Given the description of an element on the screen output the (x, y) to click on. 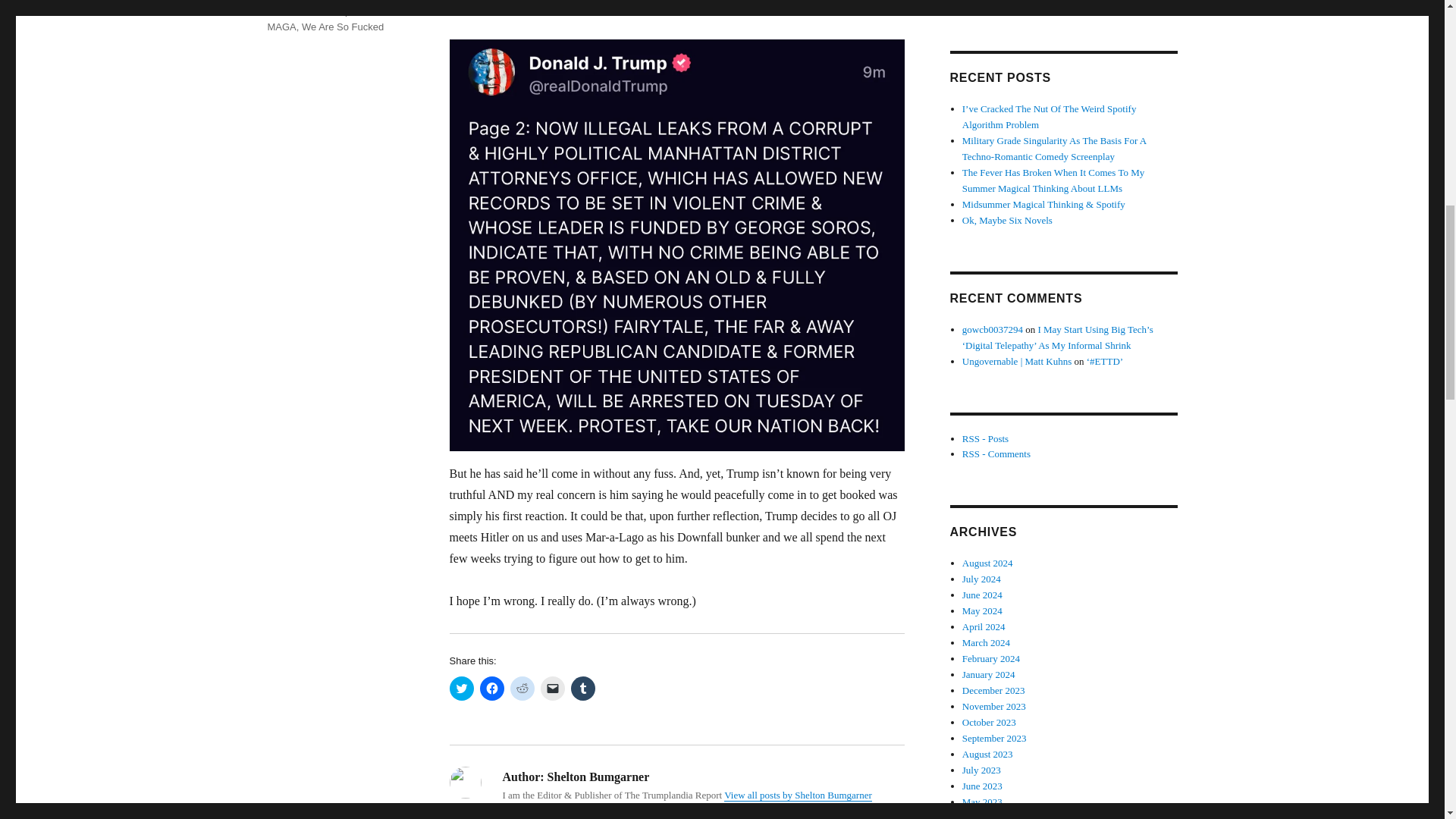
Subscribe to comments (996, 453)
Click to email a link to a friend (552, 688)
View all posts by Shelton Bumgarner (797, 794)
Click to share on Twitter (460, 688)
gowcb0037294 (992, 328)
Fuck MAGA Fuck Trump (327, 8)
Ok, Maybe Six Novels (1007, 2)
Click to share on Facebook (491, 688)
Ok, Maybe Six Novels (1007, 220)
Subscribe to posts (985, 437)
Click to share on Reddit (521, 688)
Fuck You MAGA (331, 18)
We Are So Fucked (342, 26)
